Given the description of an element on the screen output the (x, y) to click on. 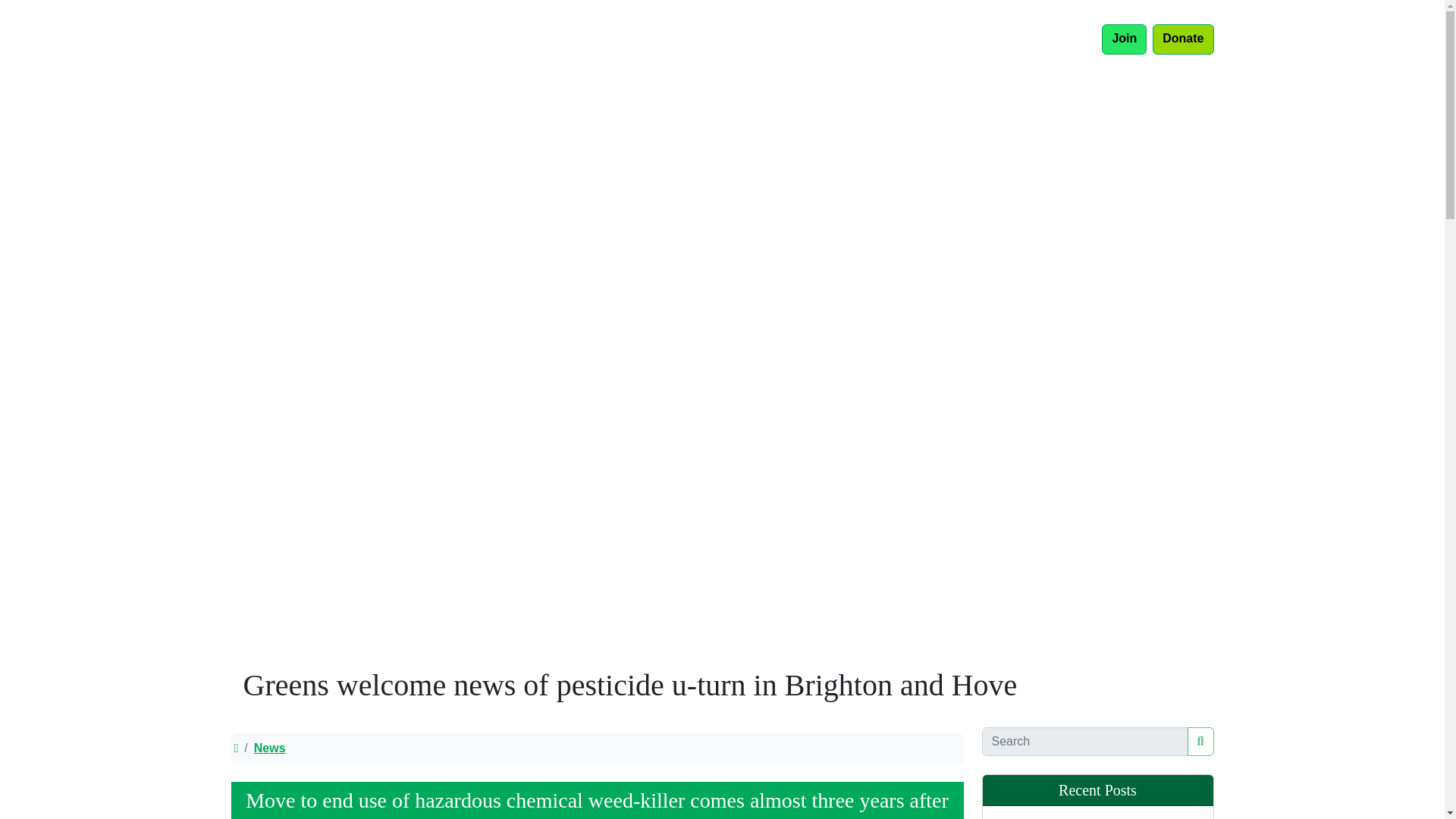
Get Involved (893, 39)
Donate (1182, 39)
Join (1124, 39)
News (779, 39)
About (826, 39)
News (269, 748)
Search (1201, 741)
News (596, 748)
Caroline Lucas (980, 39)
